Given the description of an element on the screen output the (x, y) to click on. 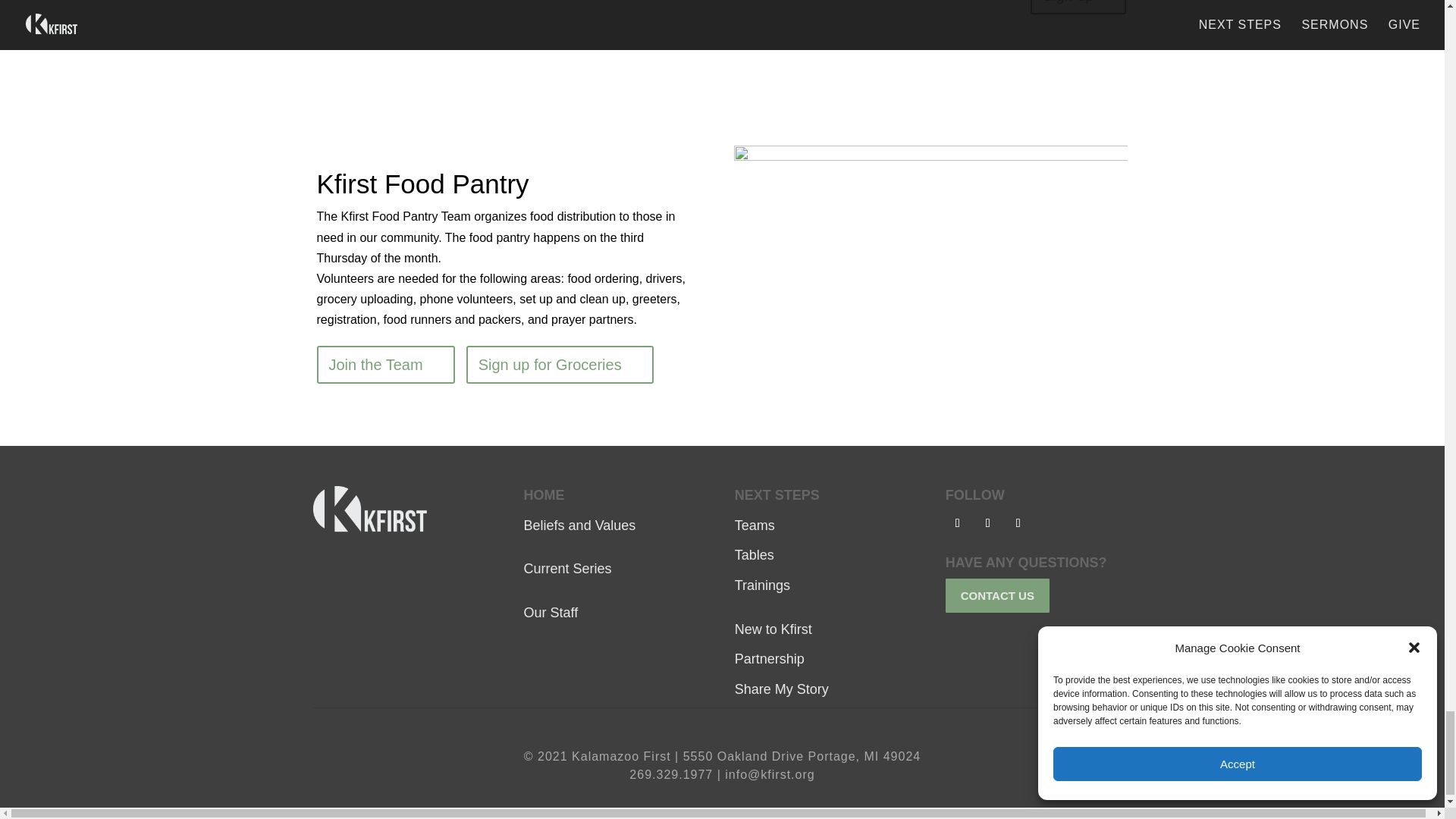
Partnership (770, 658)
Beliefs and Values (580, 525)
Current Series (567, 568)
Follow on Facebook (956, 523)
Sign up (1077, 7)
Sign up for Groceries (559, 364)
Tables (754, 554)
Follow on Instagram (987, 523)
Follow on Youtube (1018, 523)
Join the Team (385, 364)
Teams (754, 525)
Our Staff (551, 612)
Current Series (567, 568)
Our Staff (551, 612)
